Given the description of an element on the screen output the (x, y) to click on. 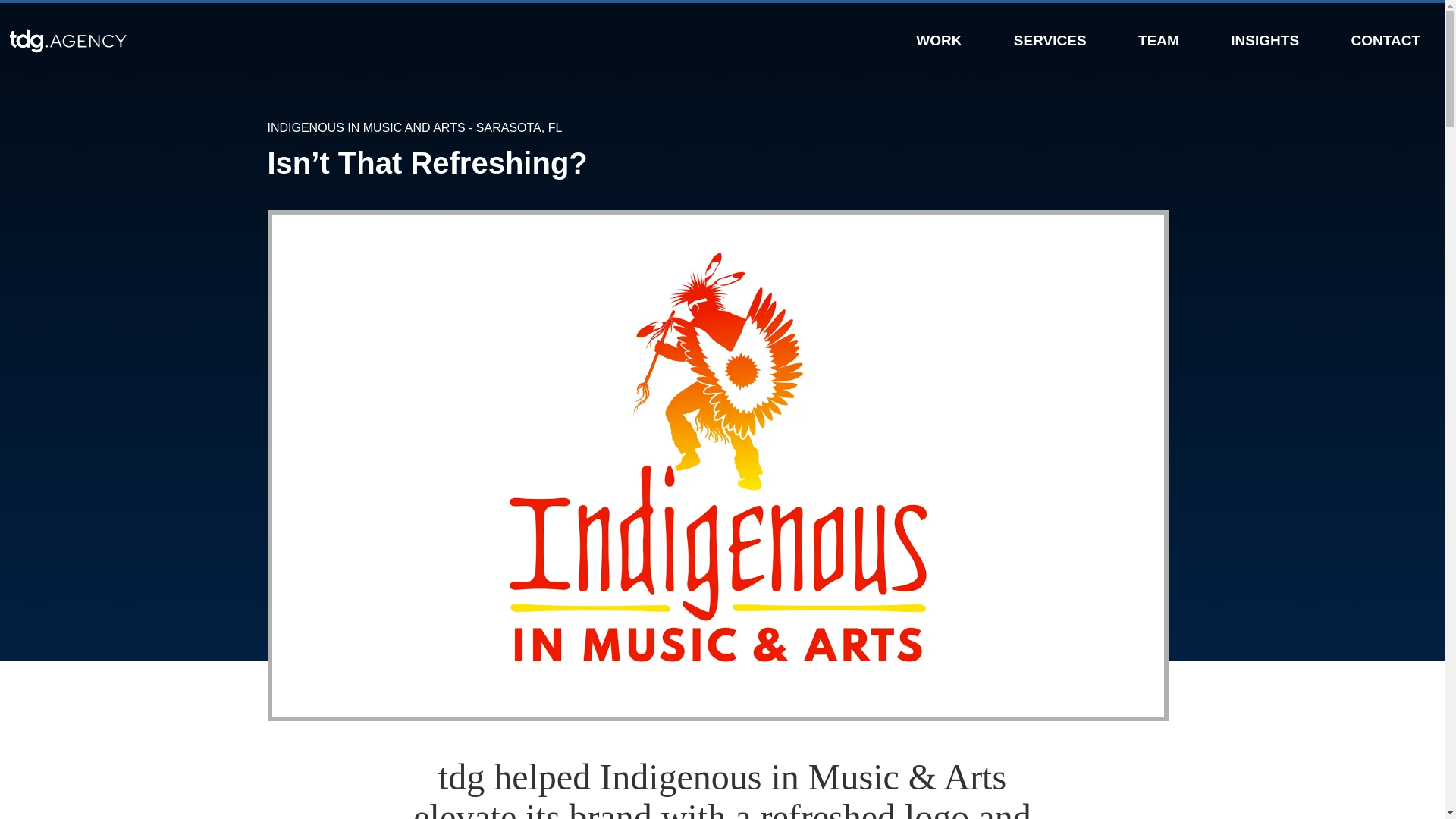
INSIGHTS (1264, 39)
CONTACT (1386, 39)
WORK (937, 39)
tdg logo (180, 40)
SERVICES (1049, 39)
TEAM (1158, 39)
